Given the description of an element on the screen output the (x, y) to click on. 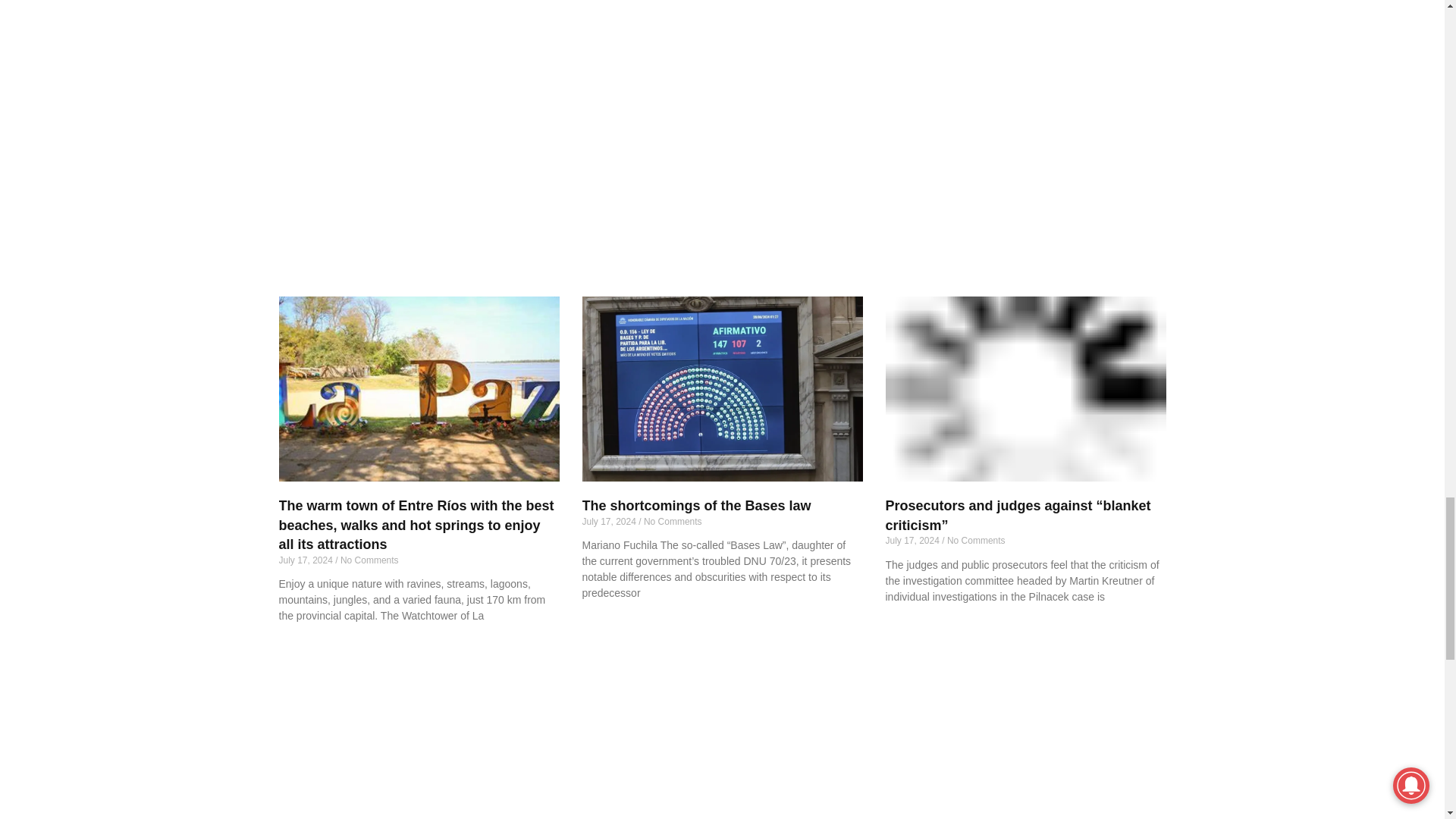
The shortcomings of the Bases law (718, 387)
